Given the description of an element on the screen output the (x, y) to click on. 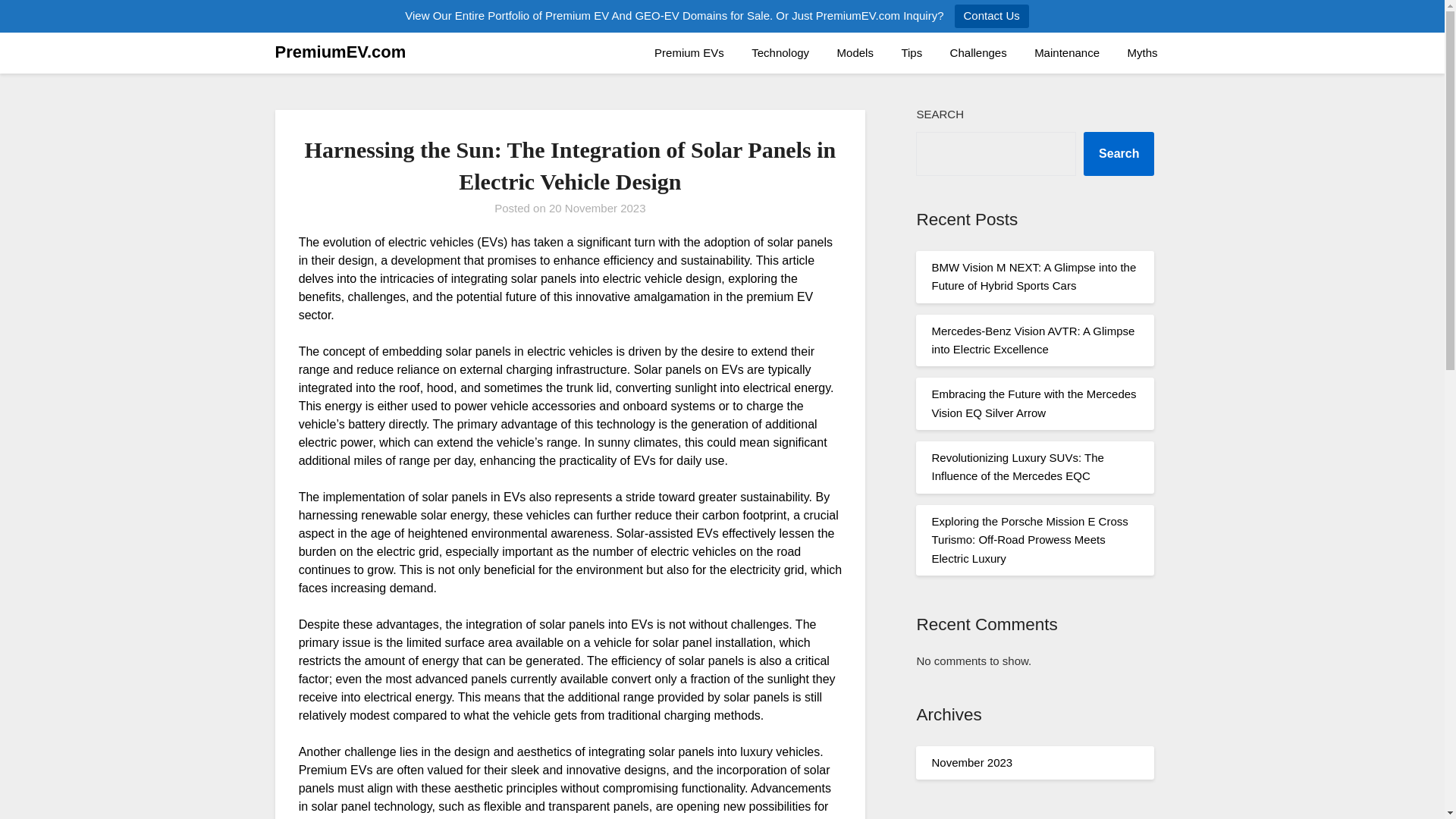
Contact Us (992, 15)
20 November 2023 (597, 207)
Myths (1142, 52)
Technology (780, 52)
Search (1118, 153)
November 2023 (971, 762)
Challenges (978, 52)
PremiumEV.com (340, 52)
Tips (911, 52)
Maintenance (1067, 52)
